Given the description of an element on the screen output the (x, y) to click on. 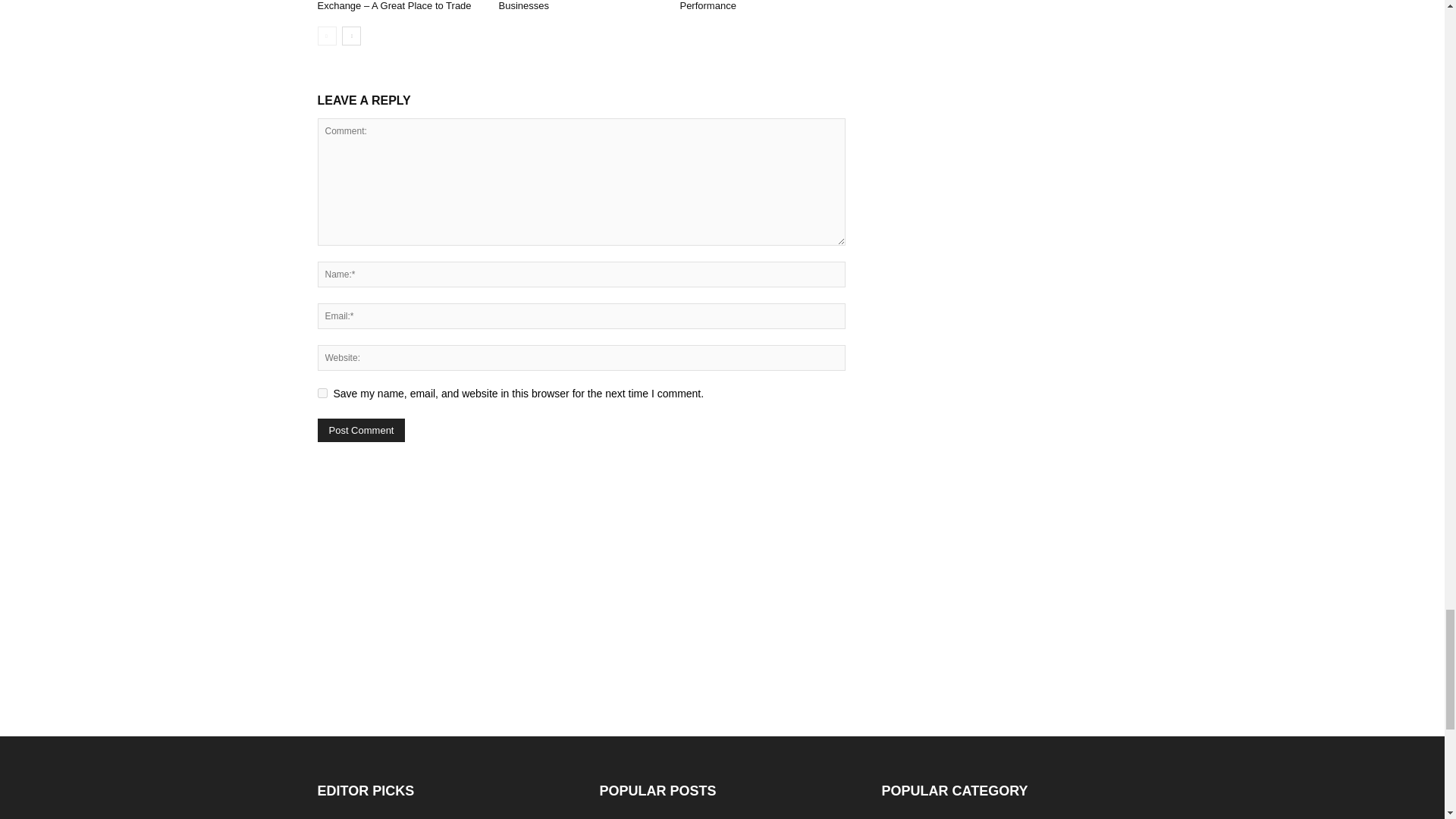
Post Comment (360, 430)
yes (321, 393)
